Given the description of an element on the screen output the (x, y) to click on. 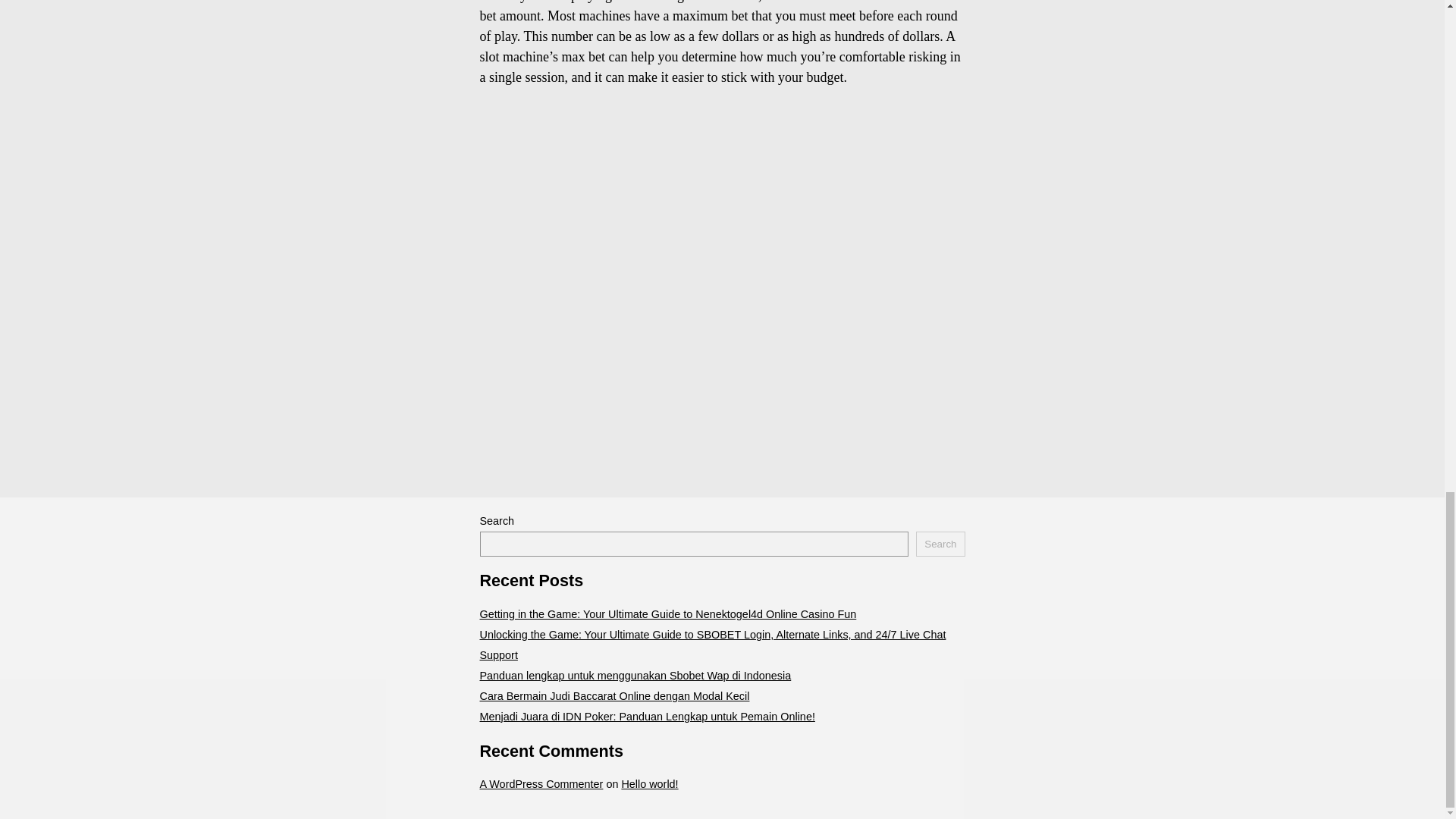
Cara Bermain Judi Baccarat Online dengan Modal Kecil (614, 695)
Search (939, 543)
A WordPress Commenter (540, 784)
Hello world! (649, 784)
Panduan lengkap untuk menggunakan Sbobet Wap di Indonesia (634, 675)
